Given the description of an element on the screen output the (x, y) to click on. 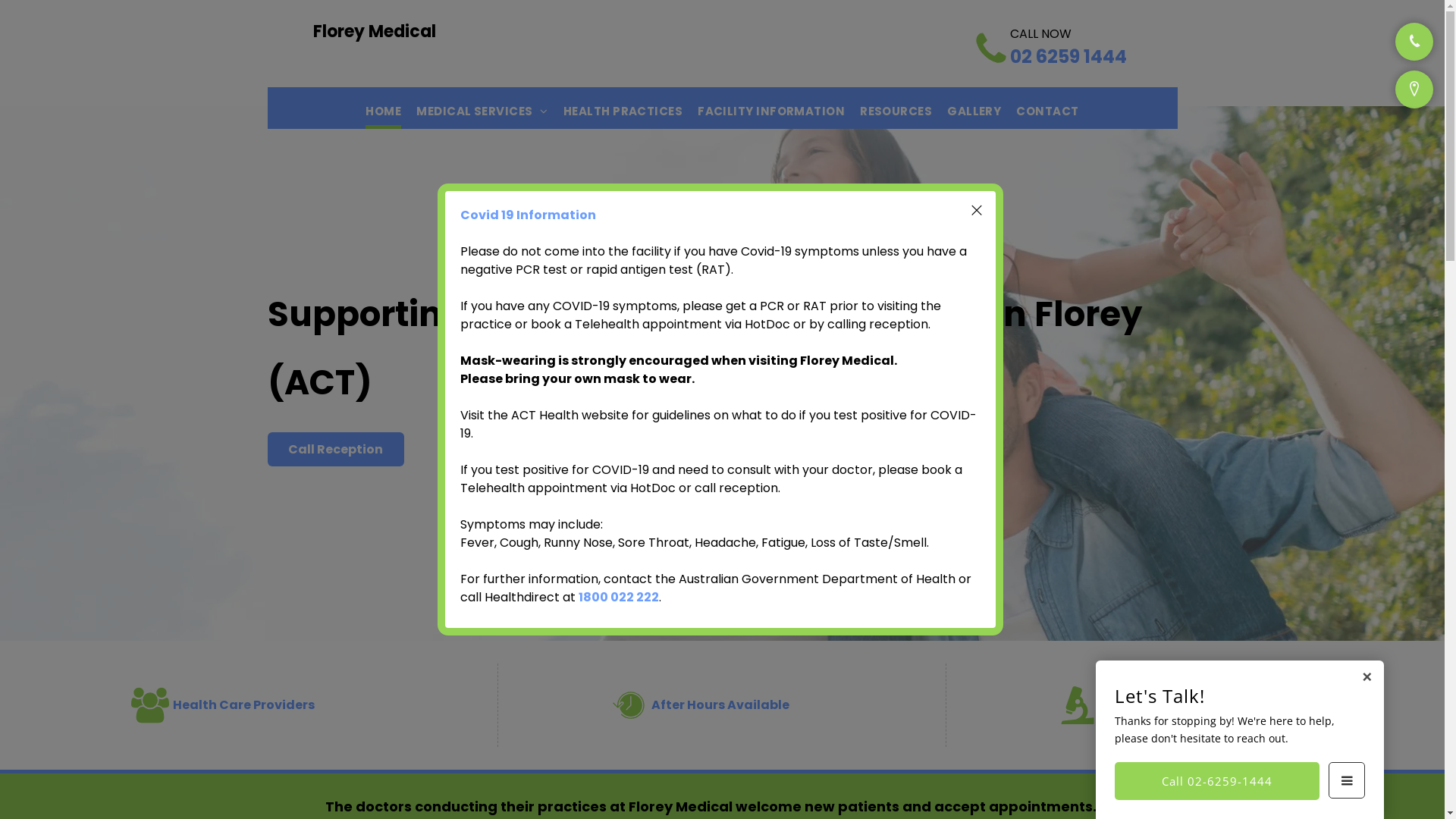
Call Reception Element type: text (334, 449)
BOOK ONLINE Element type: text (562, 449)
Florey Medical Element type: text (373, 31)
CONTACT Element type: text (1046, 107)
02 6259 1444 Element type: text (1068, 56)
FACILITY INFORMATION Element type: text (771, 107)
MEDICAL SERVICES Element type: text (481, 107)
Specialists, Doctors & Team Element type: hover (150, 705)
GALLERY Element type: text (973, 107)
HOME Element type: text (382, 107)
Onsite Pathology Element type: hover (1077, 705)
HEALTH PRACTICES Element type: text (622, 107)
Call 02-6259-1444 Element type: text (1216, 781)
1800 022 222 Element type: text (618, 596)
After Hours Available Element type: hover (628, 705)
RESOURCES Element type: text (895, 107)
